Given the description of an element on the screen output the (x, y) to click on. 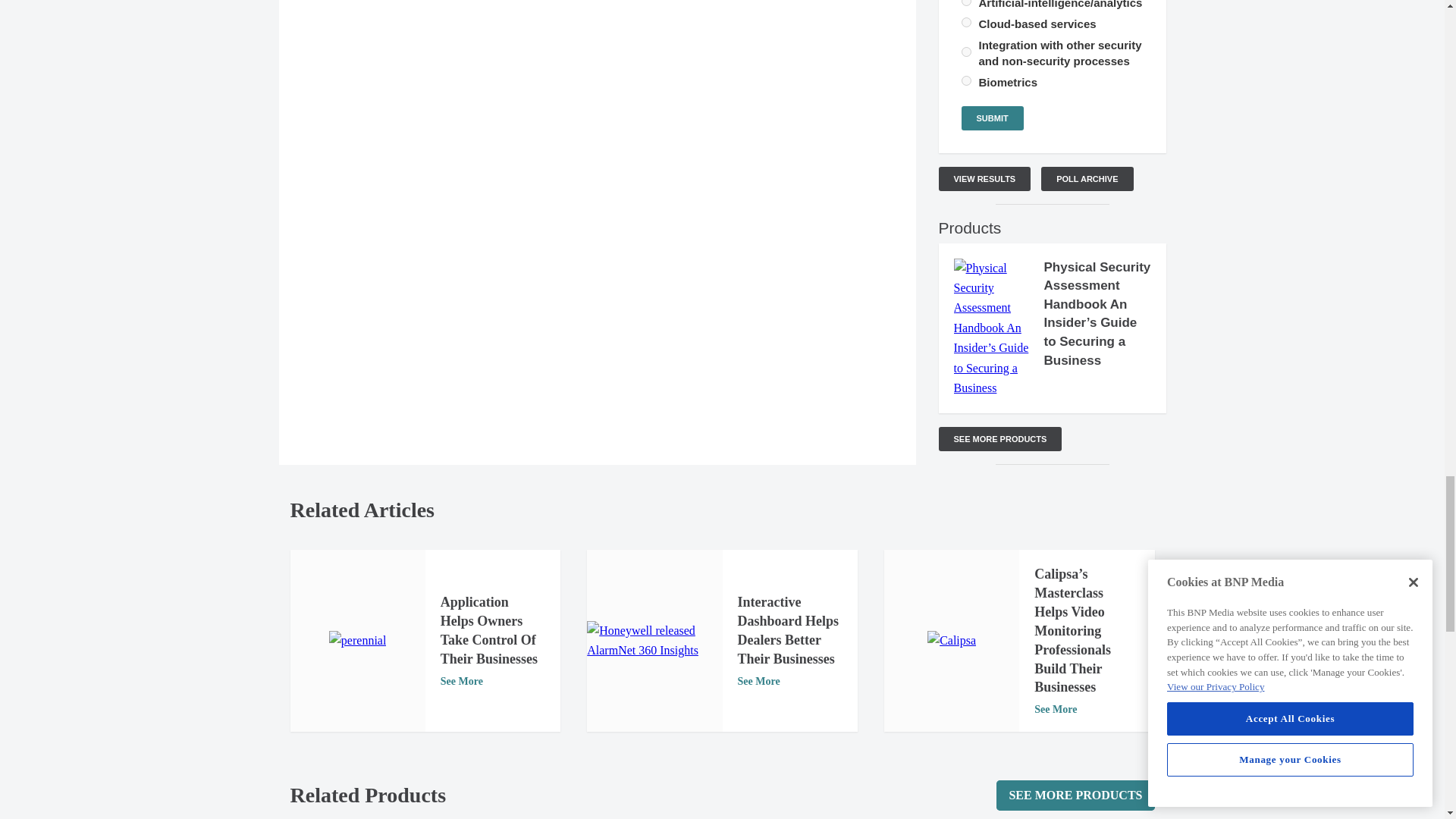
491 (965, 51)
Calipsa (951, 640)
489 (965, 2)
490 (965, 22)
perennial (358, 640)
492 (965, 80)
Honeywell released AlarmNet 360 Insights (654, 640)
Submit (991, 118)
